Given the description of an element on the screen output the (x, y) to click on. 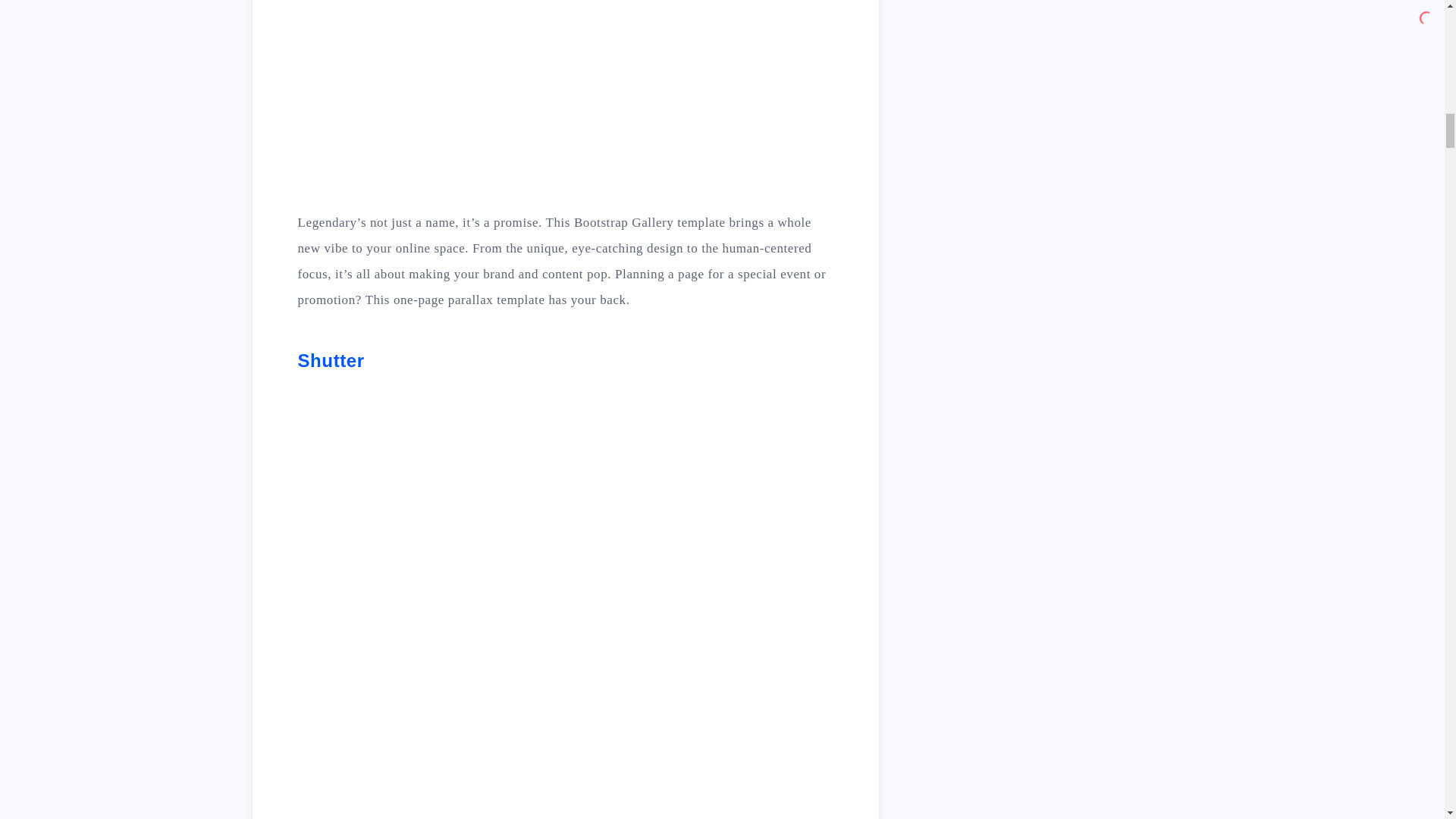
Shutter (330, 360)
